Given the description of an element on the screen output the (x, y) to click on. 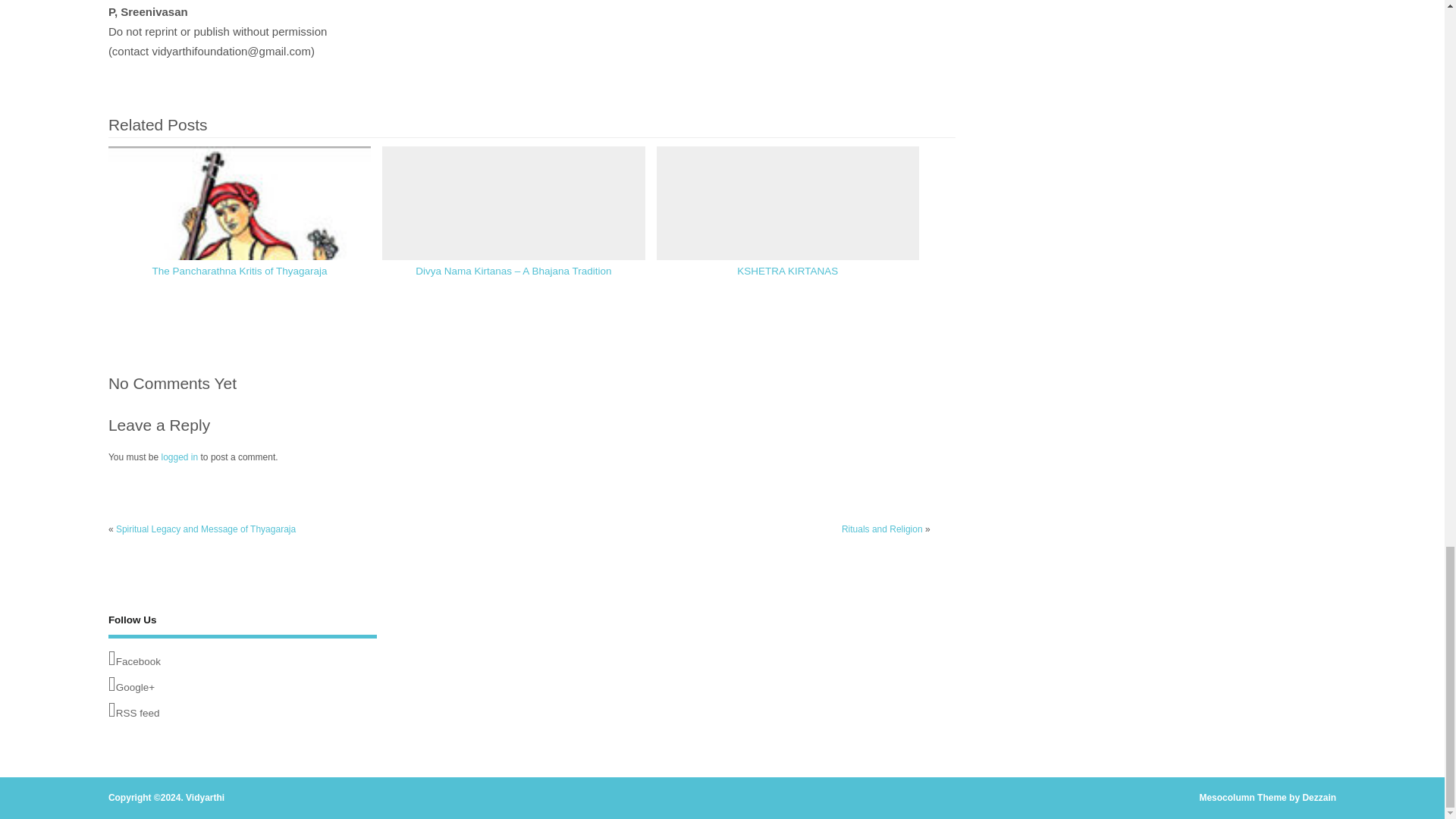
The Pancharathna Kritis of Thyagaraja (239, 277)
KSHETRA KIRTANAS (787, 270)
logged in (179, 457)
The Pancharathna Kritis of Thyagaraja (239, 270)
KSHETRA KIRTANAS (787, 270)
Spiritual Legacy and Message of Thyagaraja (205, 529)
Rituals and Religion (882, 529)
The Pancharathna Kritis of Thyagaraja (239, 270)
